Given the description of an element on the screen output the (x, y) to click on. 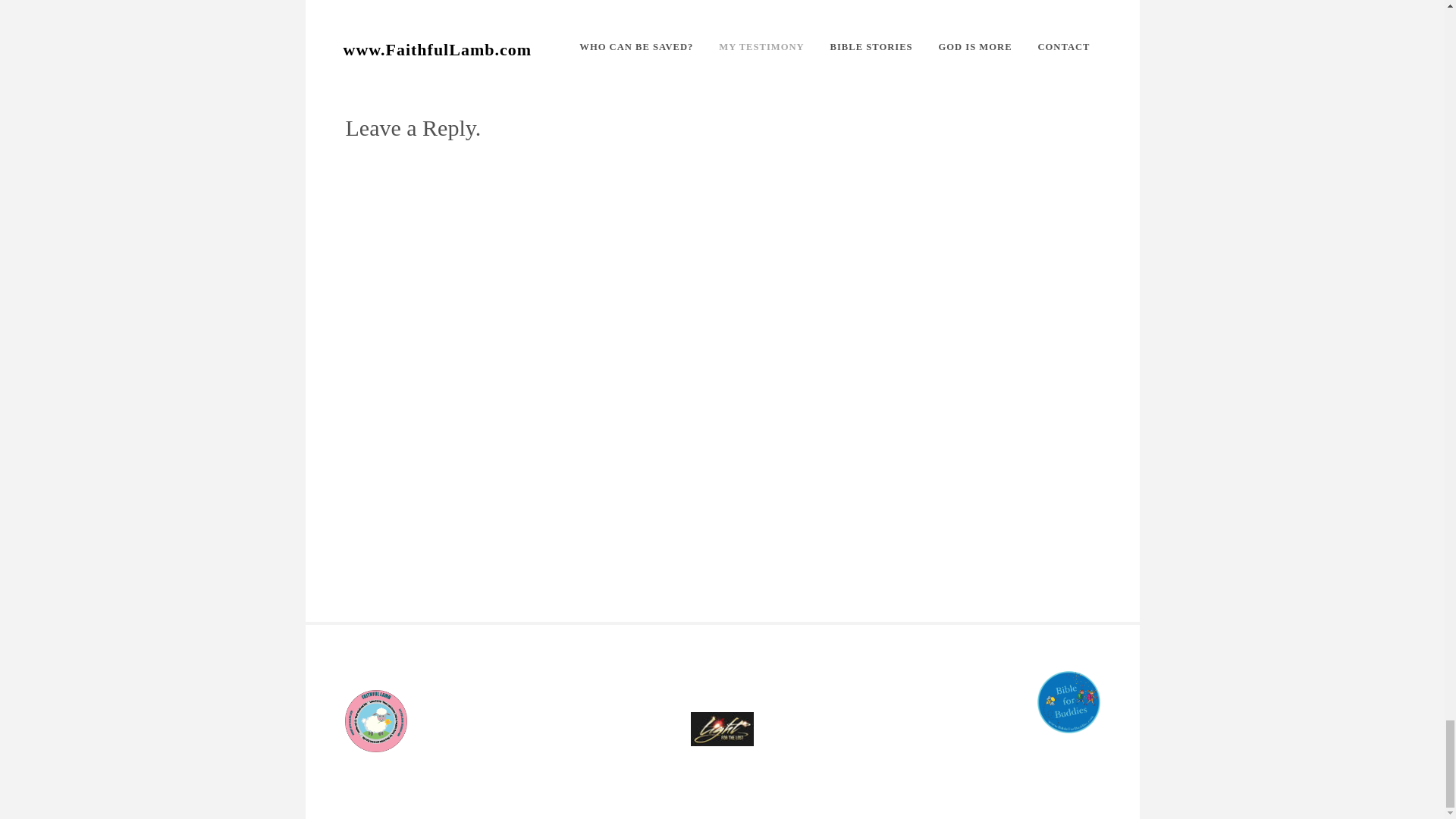
0 Comments (376, 76)
